Given the description of an element on the screen output the (x, y) to click on. 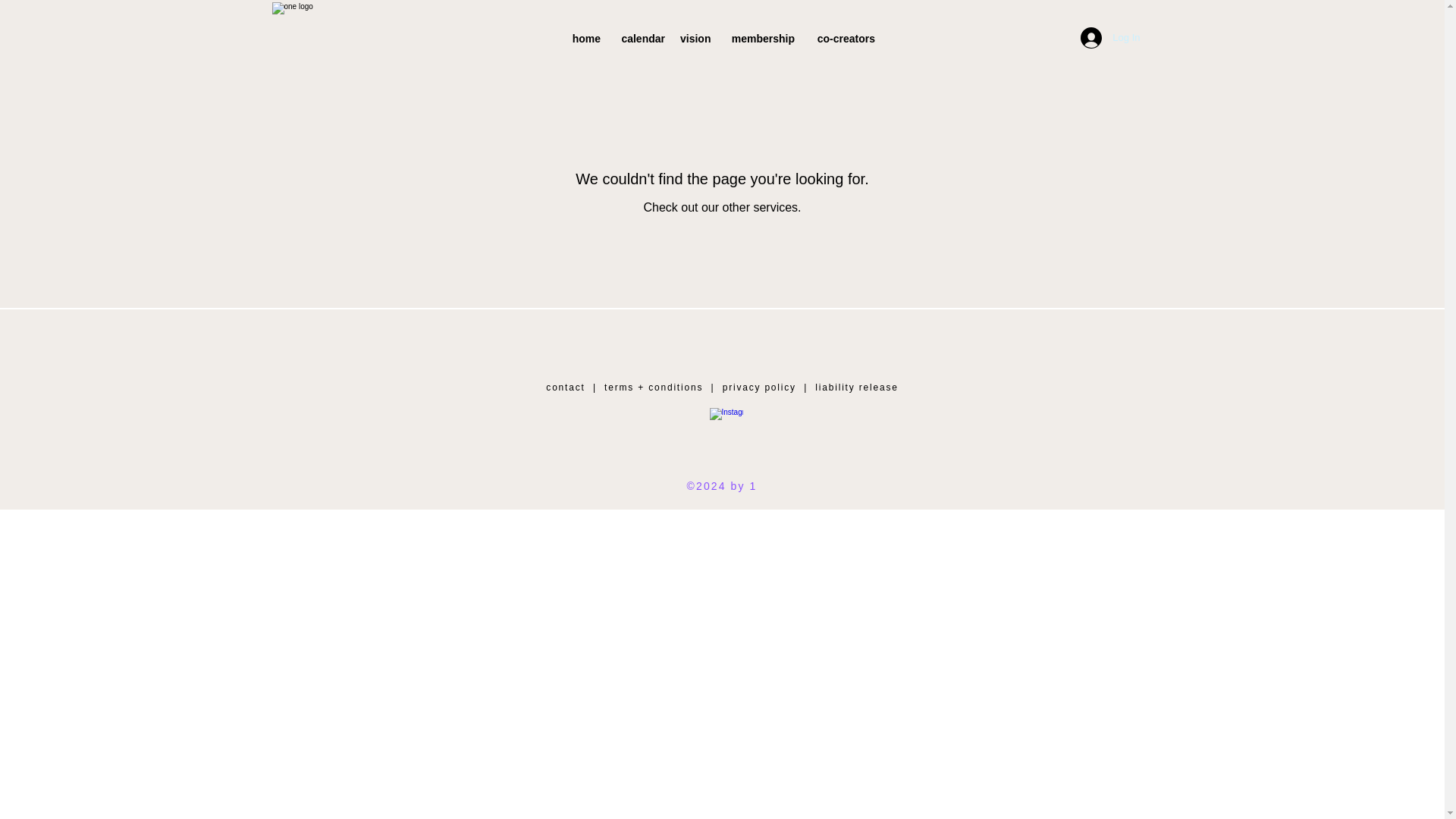
membership (759, 38)
Log In (1110, 37)
liability release (856, 387)
home (584, 38)
co-creators (842, 38)
vision (694, 38)
calendar (640, 38)
